Given the description of an element on the screen output the (x, y) to click on. 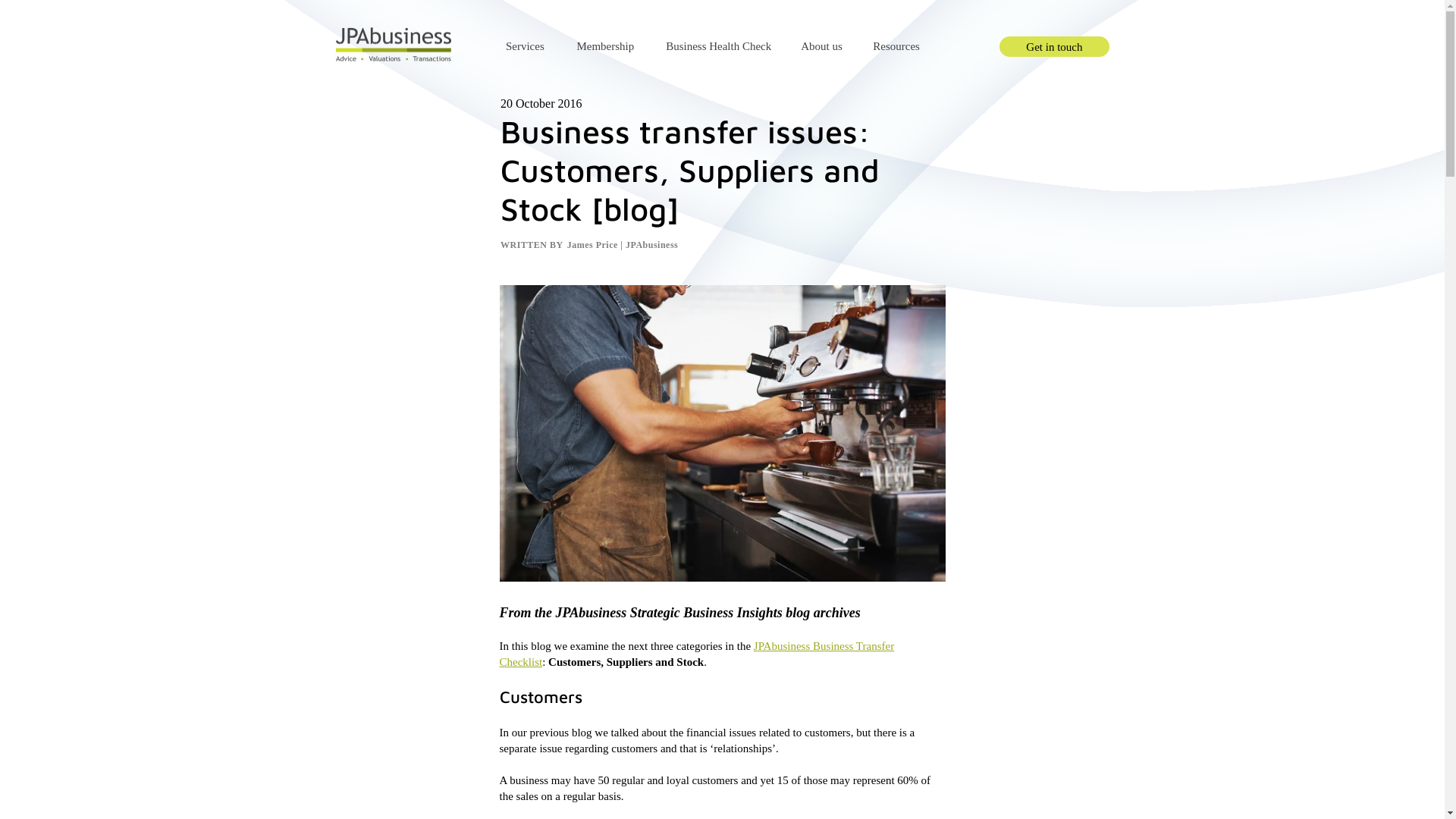
Business Health Check Element type: text (718, 46)
About us Element type: text (821, 46)
Get in touch Element type: text (1053, 46)
Services Element type: text (524, 46)
Membership Element type: text (605, 46)
PAbusiness Business Transfer Checklist Element type: text (696, 654)
Resources Element type: text (896, 46)
J Element type: text (755, 646)
